Given the description of an element on the screen output the (x, y) to click on. 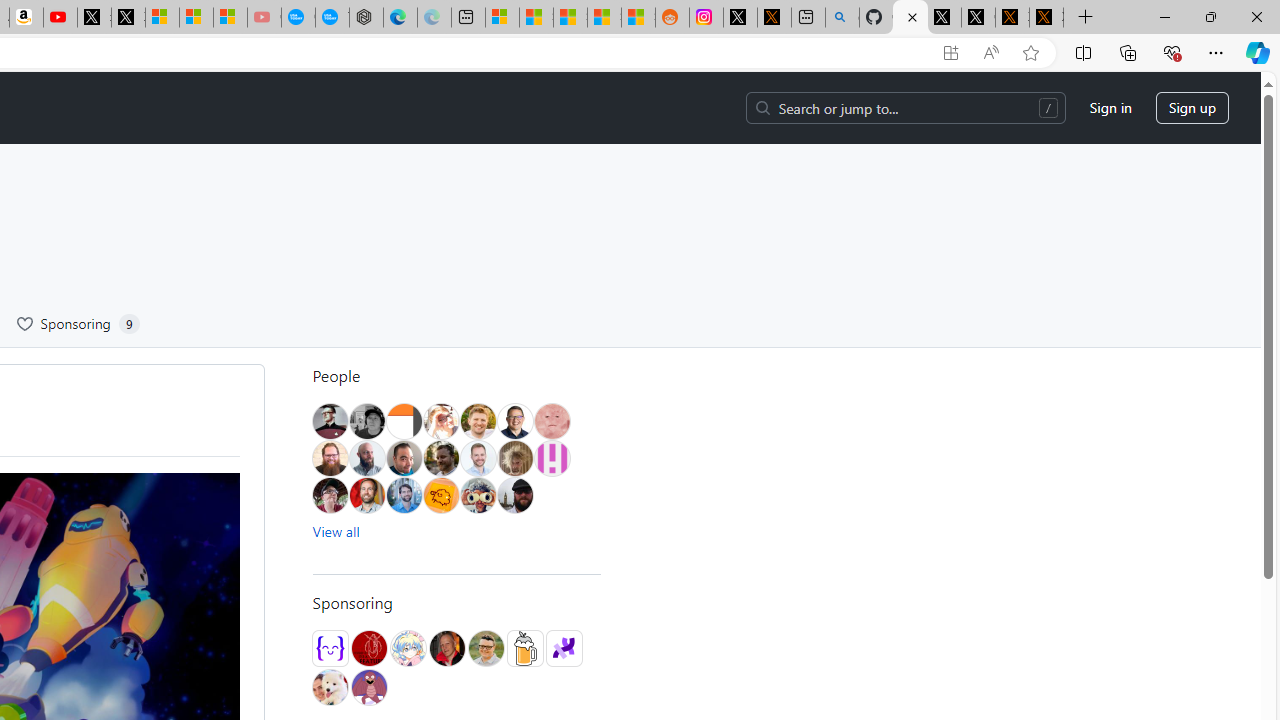
Sign in (1110, 107)
@nickh (514, 457)
Gloom - YouTube - Sleeping (264, 17)
@kyanny (440, 495)
@sbryant (551, 457)
@dcreager (330, 495)
@digitarald (367, 495)
@kivikakk (408, 648)
@kjg (477, 421)
@northrup (514, 495)
X Privacy Policy (1046, 17)
@arthurschreiber (440, 421)
@Homebrew (524, 648)
Opinion: Op-Ed and Commentary - USA TODAY (297, 17)
